Given the description of an element on the screen output the (x, y) to click on. 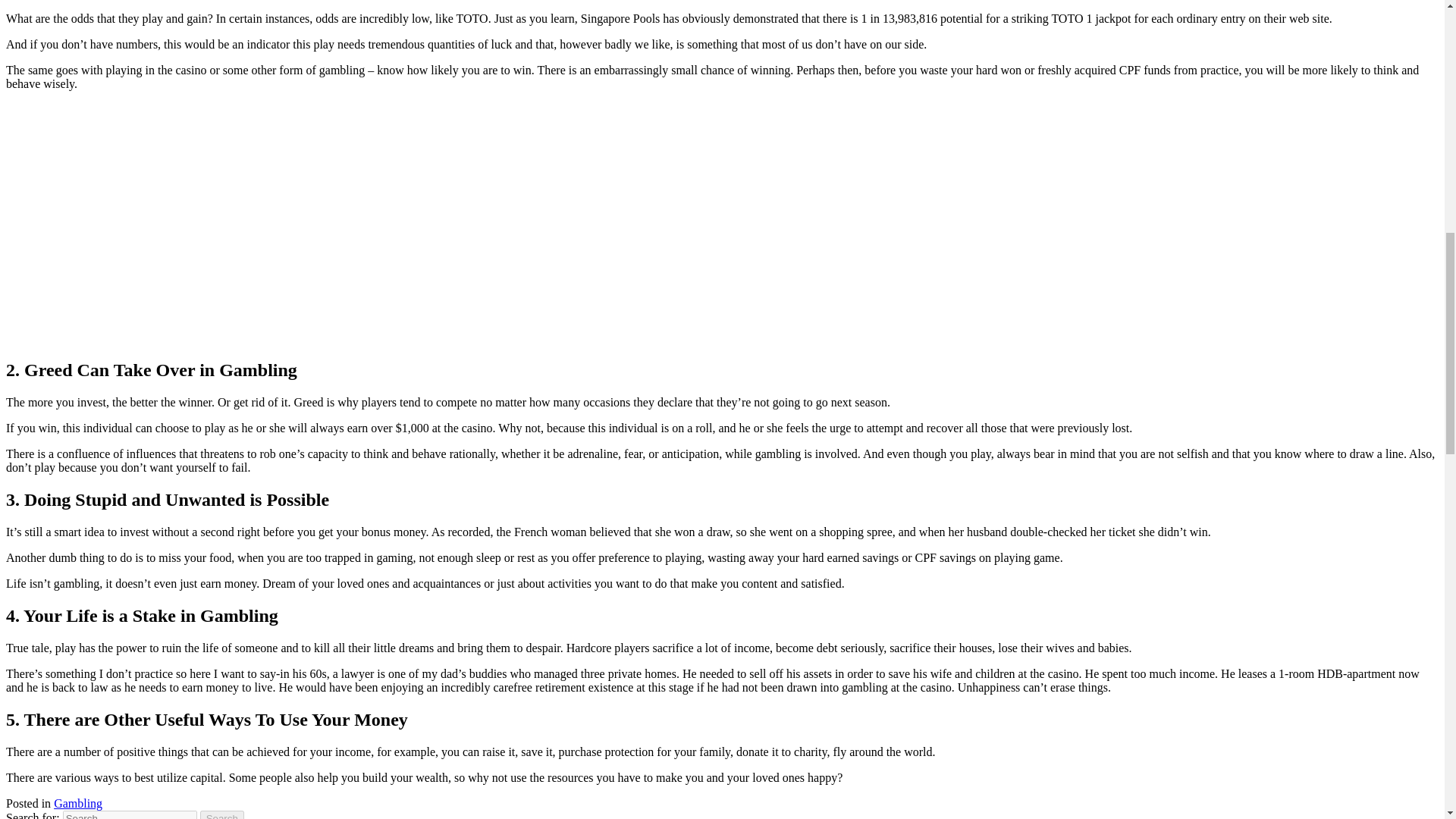
Search (222, 814)
Gambling (77, 802)
Search (222, 814)
Search (222, 814)
